Given the description of an element on the screen output the (x, y) to click on. 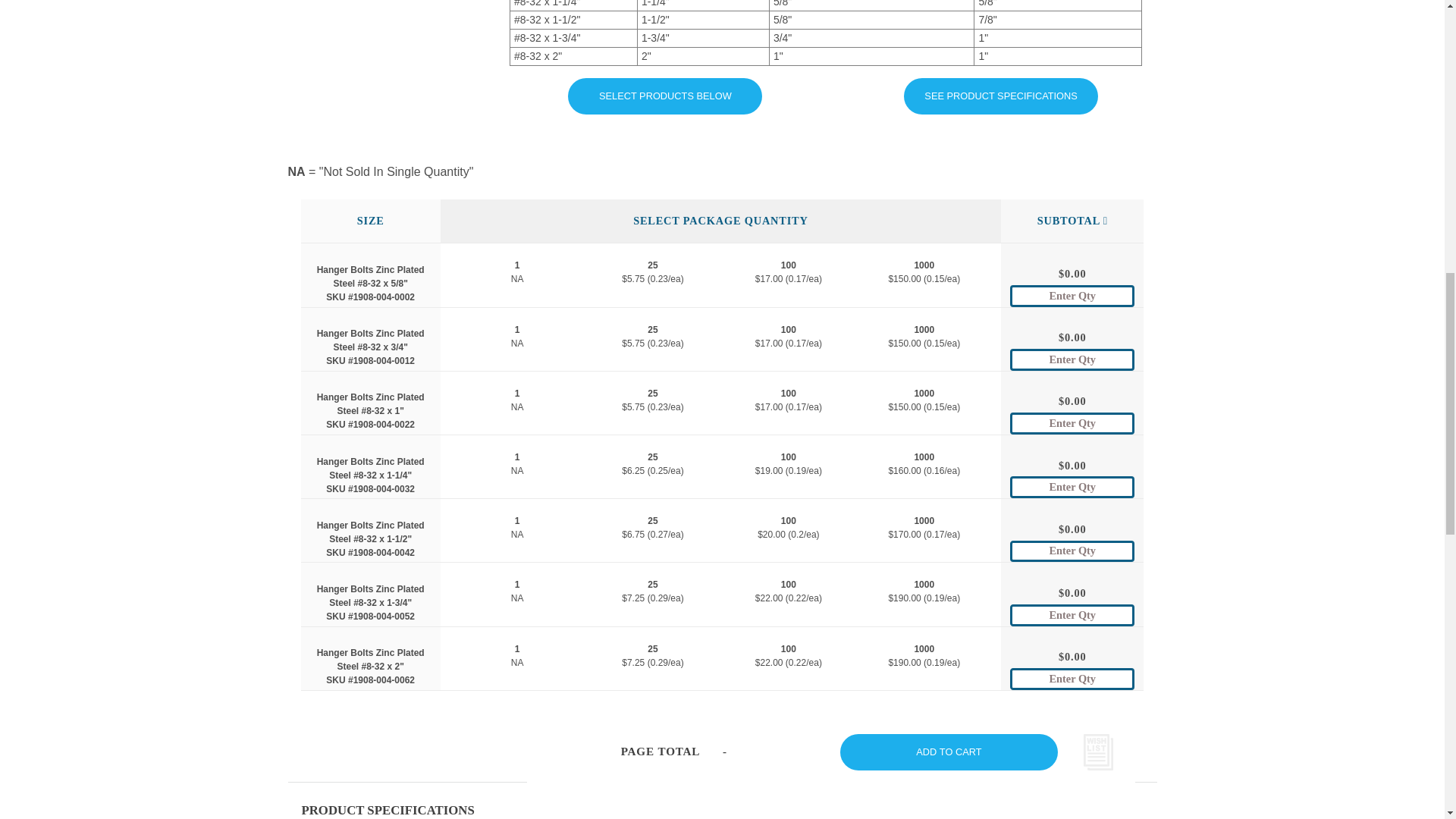
Add to wishlist (1096, 751)
